Given the description of an element on the screen output the (x, y) to click on. 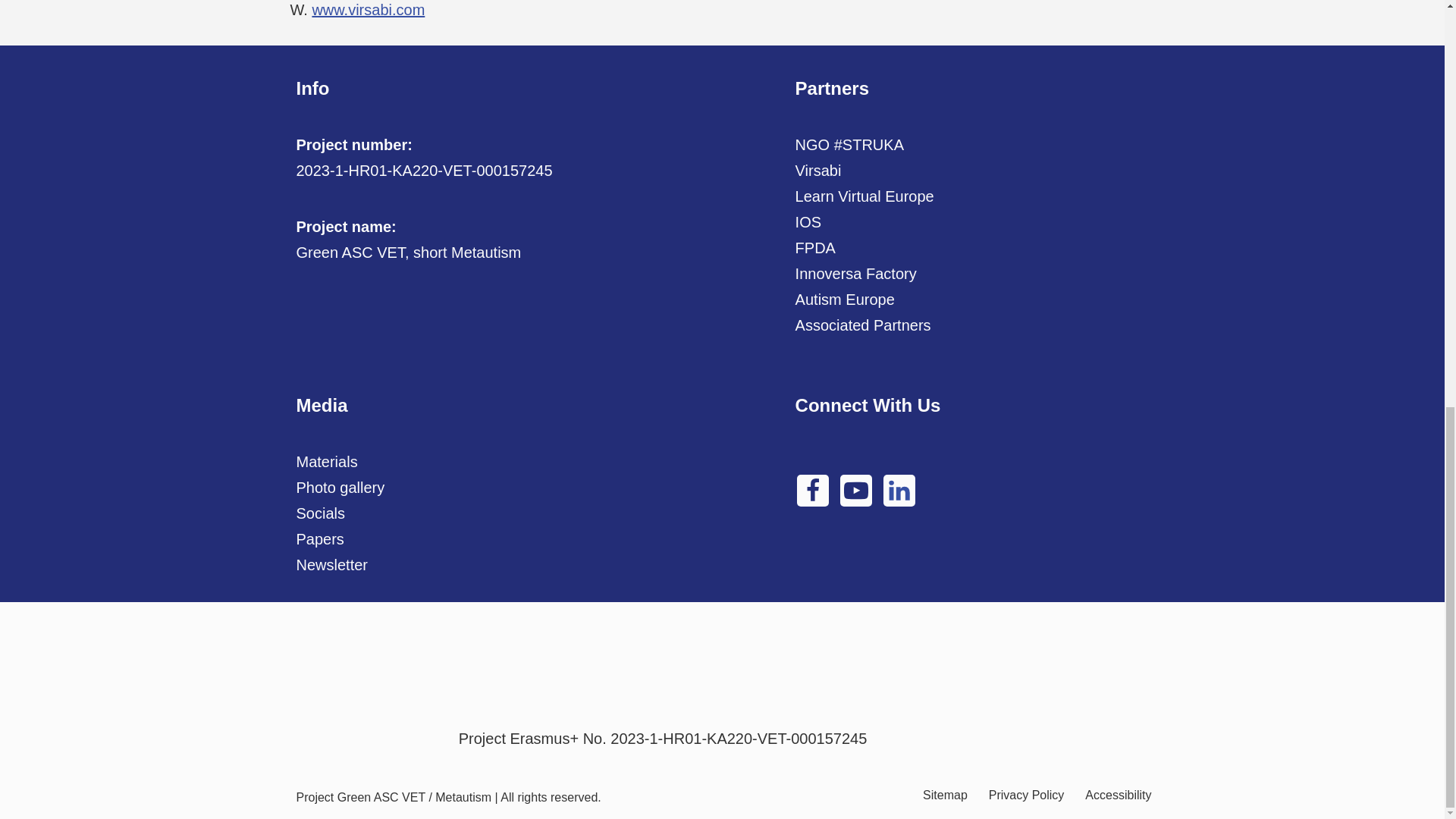
Youtube (856, 490)
Facebook (812, 490)
LinkedIn (899, 490)
